Given the description of an element on the screen output the (x, y) to click on. 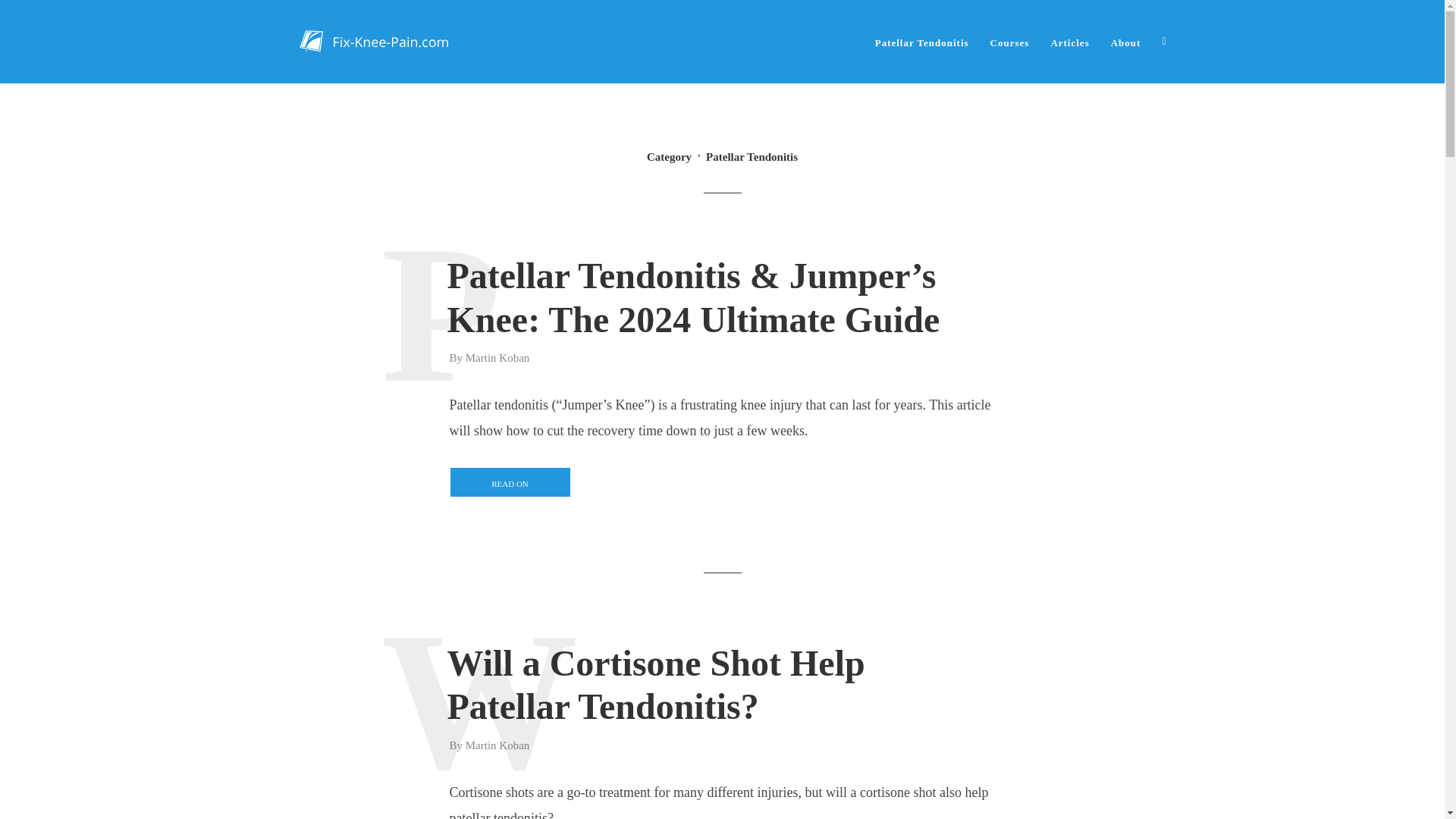
Courses (1010, 41)
About (1125, 41)
Martin Koban (497, 746)
Will a Cortisone Shot Help Patellar Tendonitis? (720, 684)
Patellar Tendonitis (921, 41)
Martin Koban (497, 359)
Articles (1069, 41)
READ ON (509, 481)
